Given the description of an element on the screen output the (x, y) to click on. 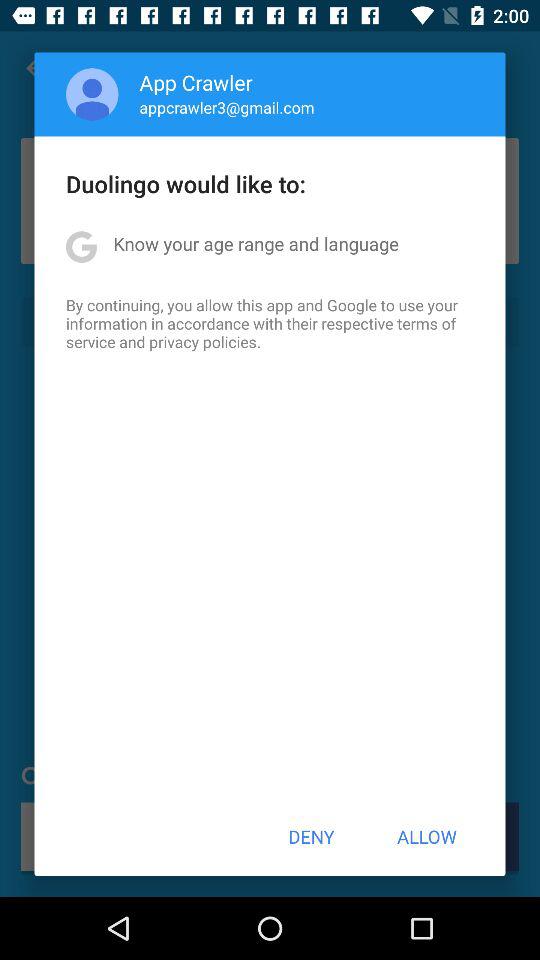
select know your age (255, 243)
